Given the description of an element on the screen output the (x, y) to click on. 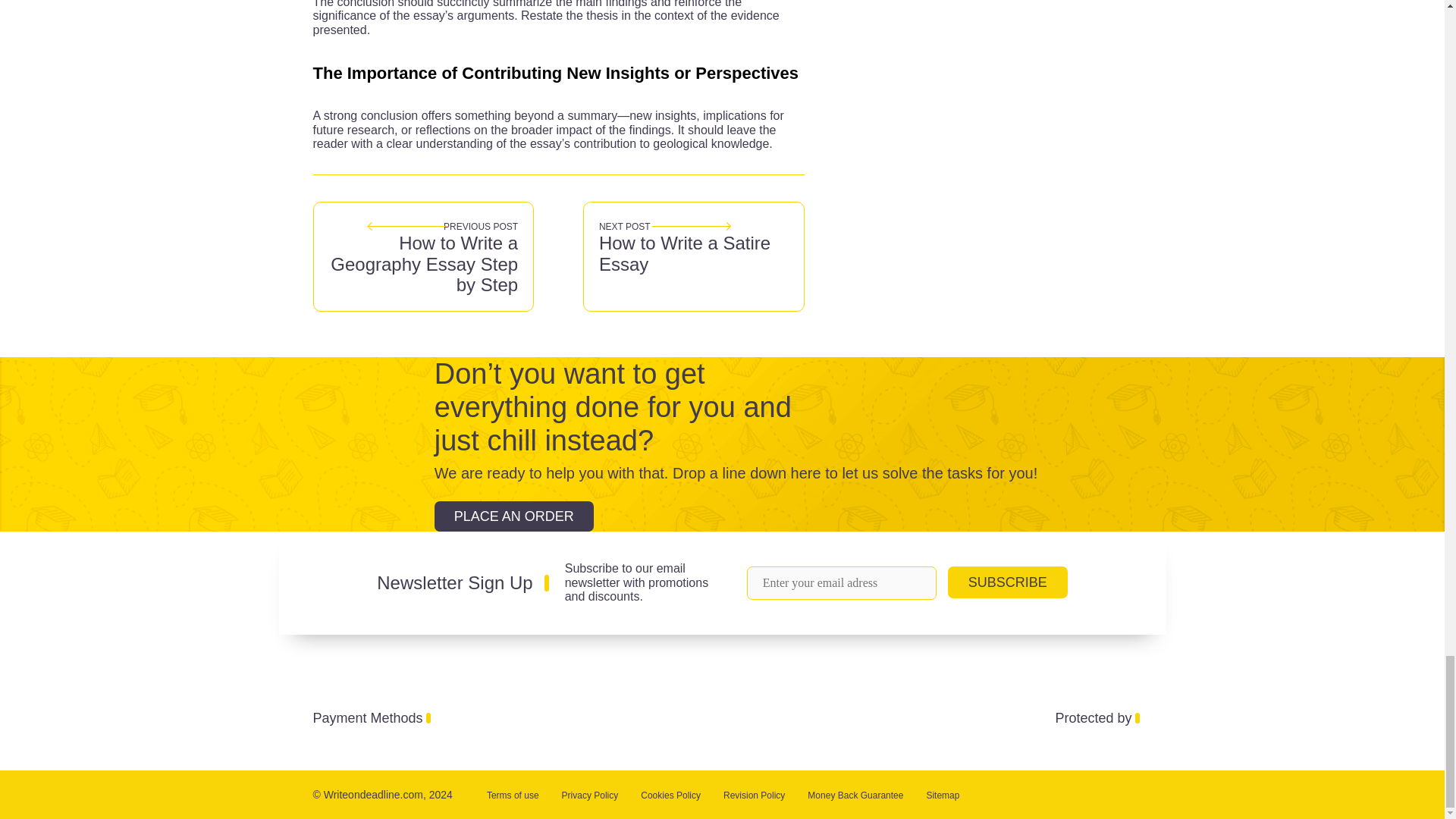
SUBSCRIBE (1007, 582)
